Given the description of an element on the screen output the (x, y) to click on. 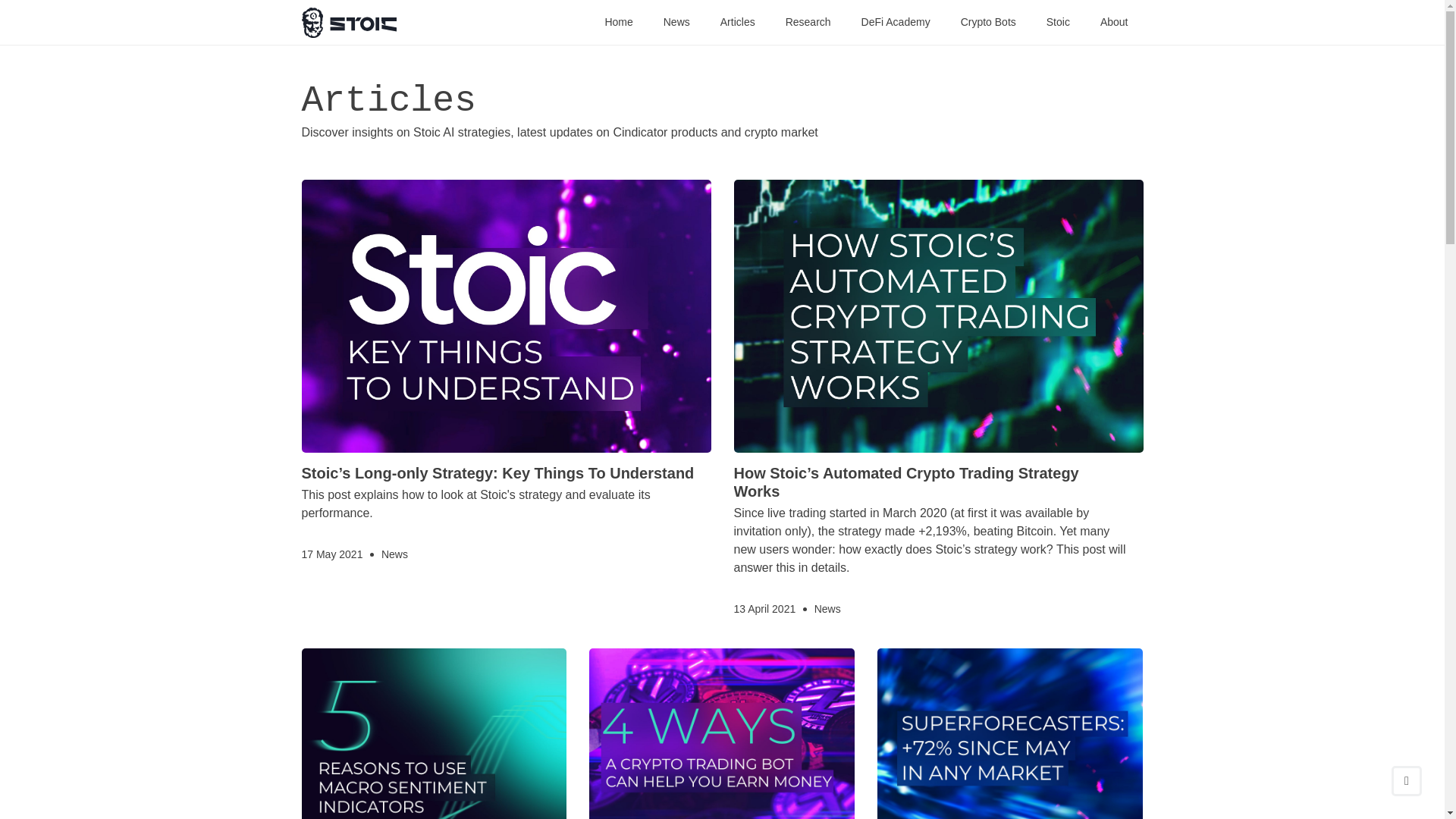
Crypto Trading Bot - Stoic (348, 21)
Home (617, 21)
DeFi Academy (895, 21)
Research (808, 21)
Crypto Bots (988, 21)
About (1114, 21)
DeFi Academy (895, 21)
News (676, 21)
Articles (737, 21)
News (394, 554)
